Given the description of an element on the screen output the (x, y) to click on. 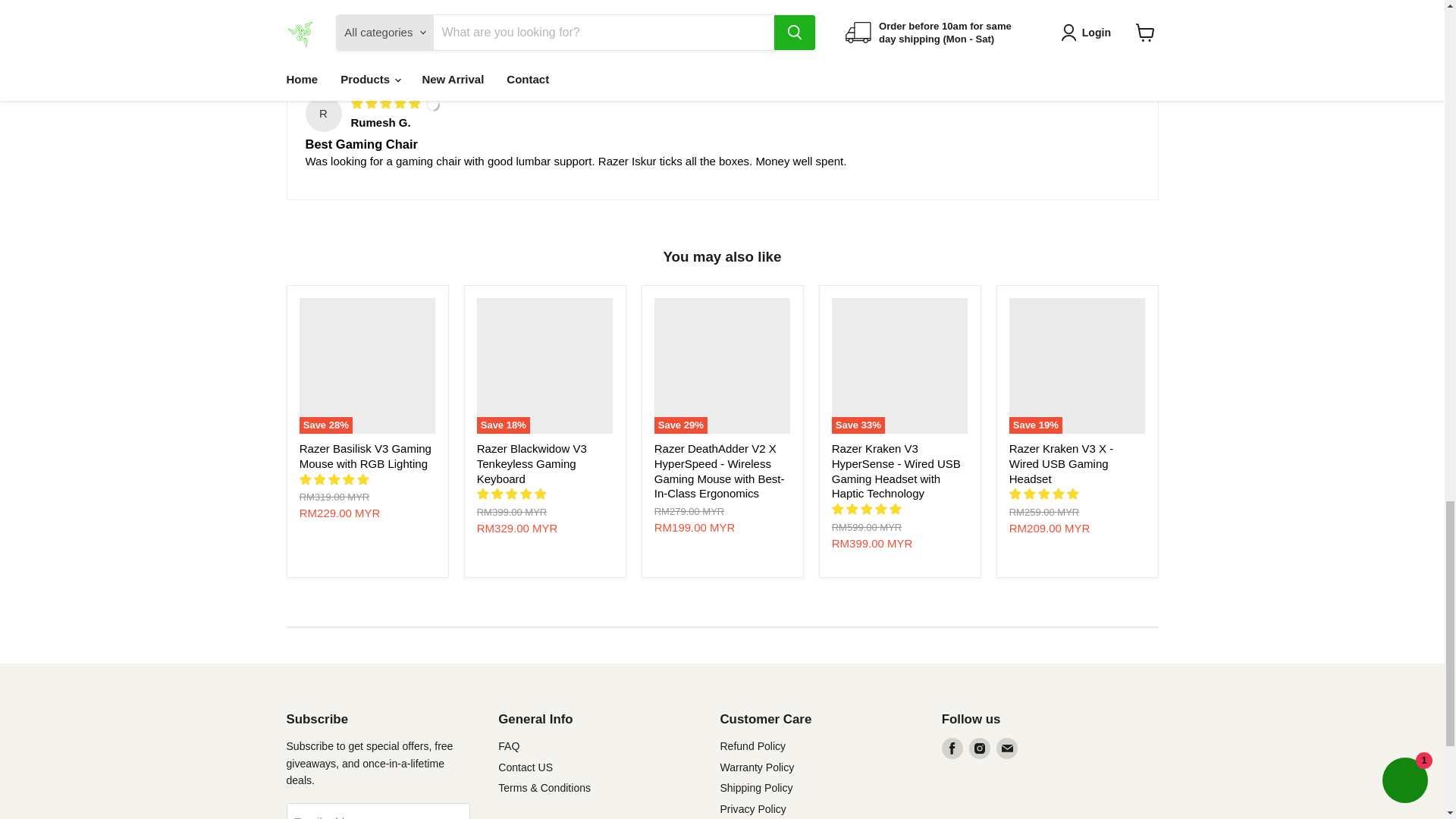
Facebook (952, 748)
Instagram (979, 748)
Email (1006, 748)
